Given the description of an element on the screen output the (x, y) to click on. 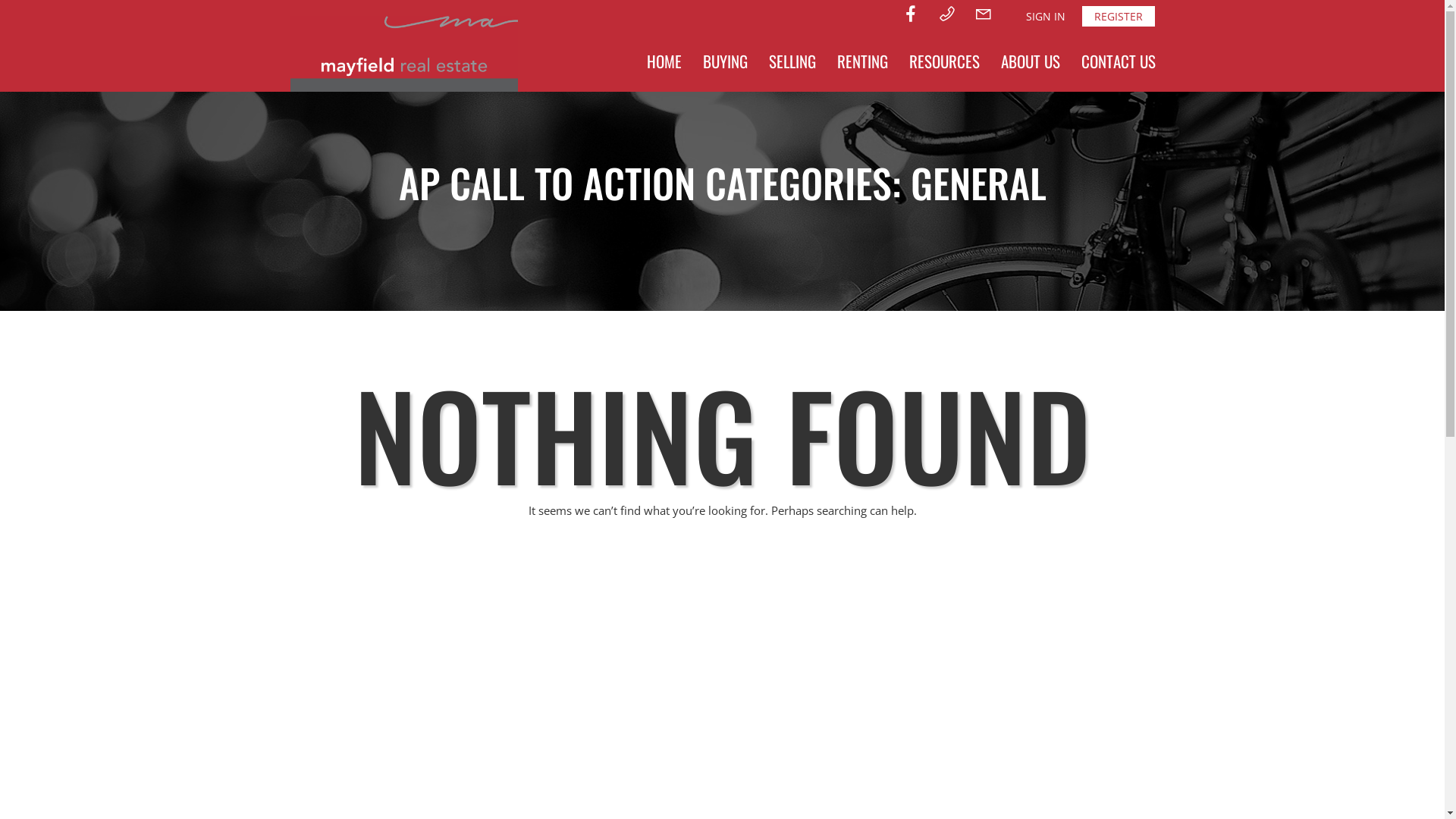
RESOURCES Element type: text (943, 61)
ABOUT US Element type: text (1030, 61)
RENTING Element type: text (862, 61)
BUYING Element type: text (724, 61)
SELLING Element type: text (792, 61)
HOME Element type: text (663, 61)
SIGN IN Element type: text (1044, 16)
REGISTER Element type: text (1117, 16)
CONTACT US Element type: text (1118, 61)
